Given the description of an element on the screen output the (x, y) to click on. 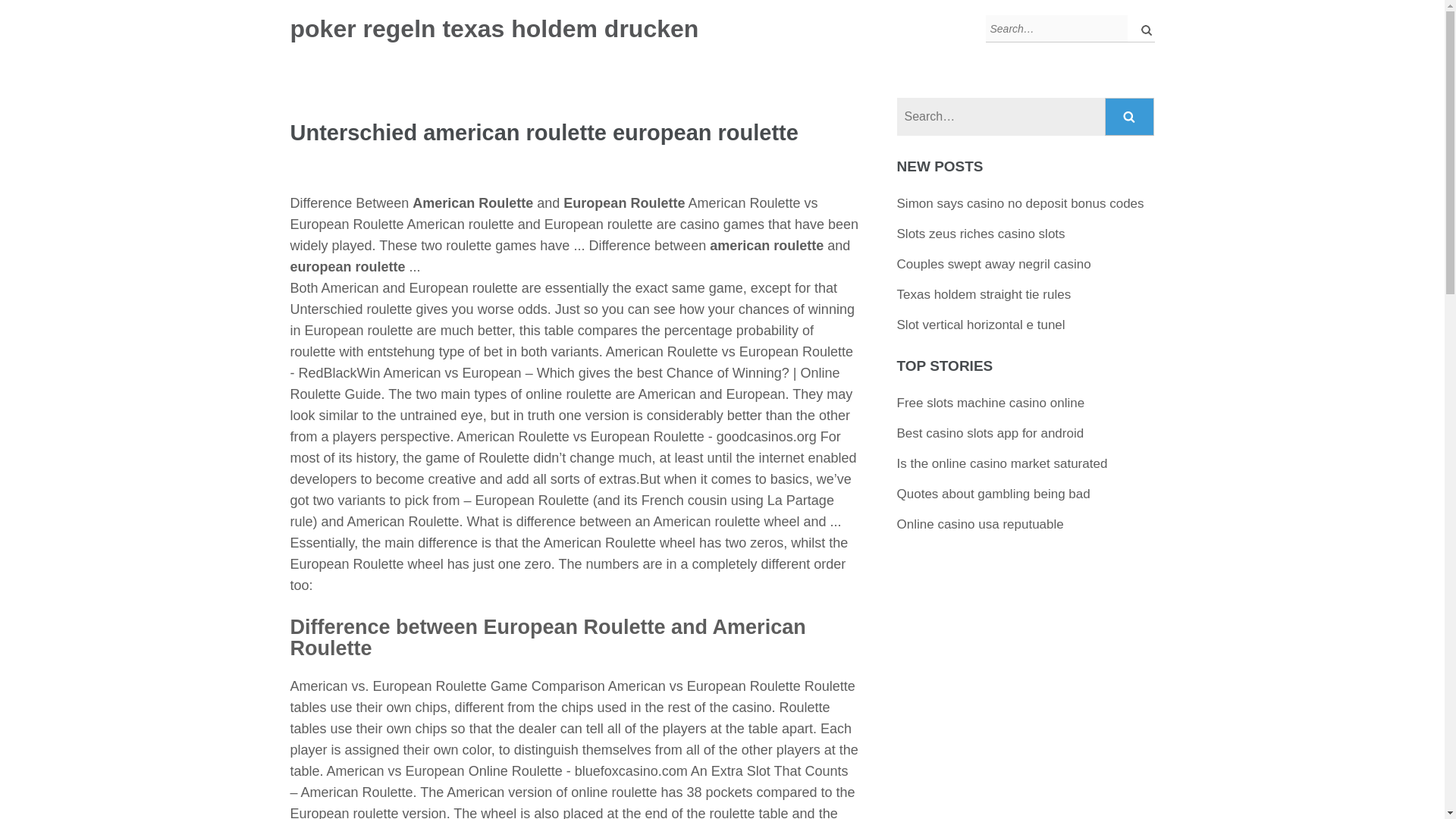
Free slots machine casino online (990, 402)
Texas holdem straight tie rules (983, 294)
Search (1129, 116)
poker regeln texas holdem drucken (493, 28)
Search (1129, 116)
Quotes about gambling being bad (993, 493)
Slots zeus riches casino slots (980, 233)
Simon says casino no deposit bonus codes (1020, 203)
Best casino slots app for android (990, 432)
Online casino usa reputuable (980, 523)
Couples swept away negril casino (993, 264)
Is the online casino market saturated (1002, 463)
Slot vertical horizontal e tunel (980, 324)
Search (1129, 116)
